Given the description of an element on the screen output the (x, y) to click on. 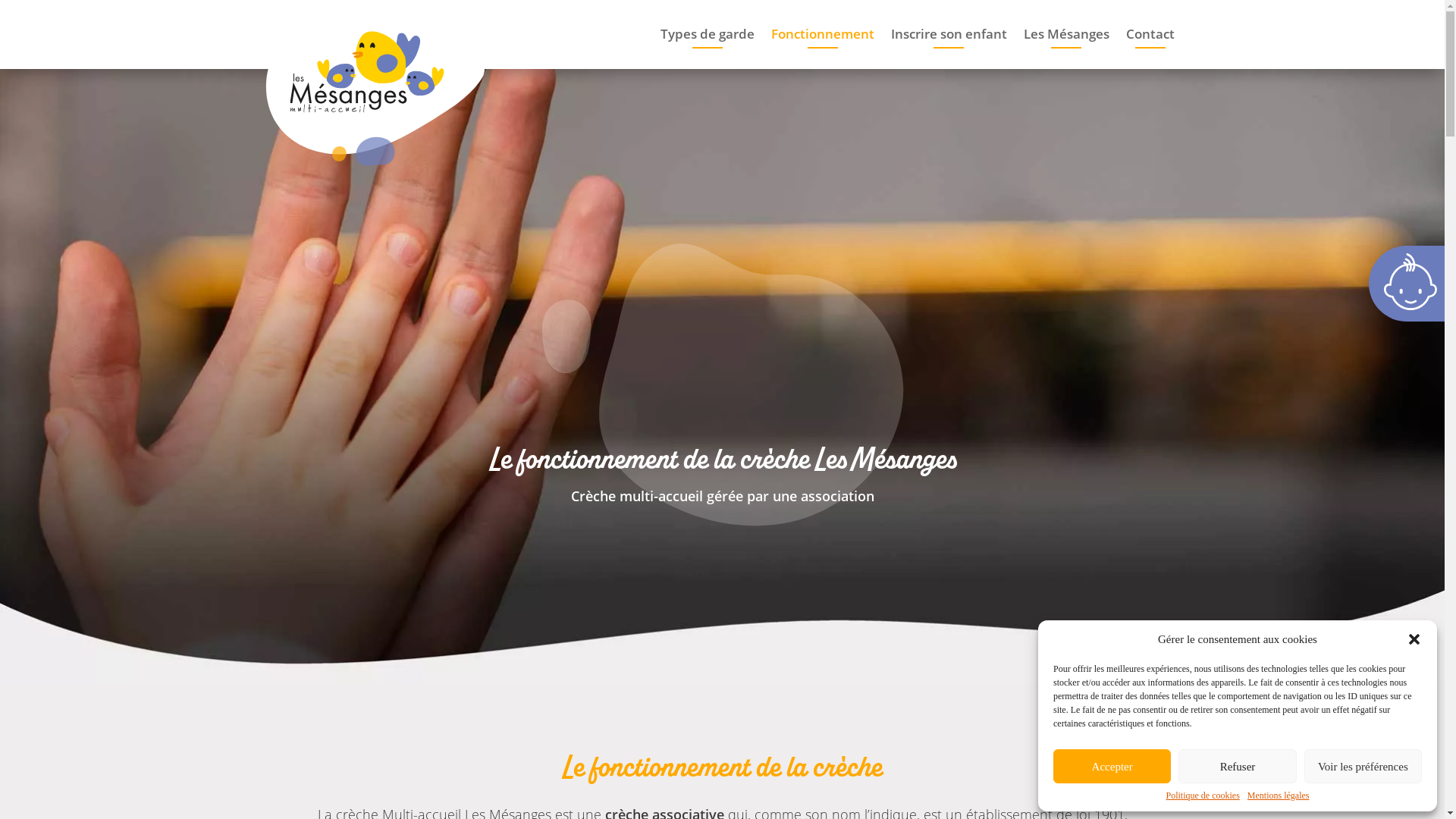
les-mesanges-creche-multi-accueil-a-dirinon-finistere- Element type: hover (721, 384)
Types de garde Element type: text (707, 44)
Accepter Element type: text (1111, 766)
Inscrire son enfant Element type: text (949, 44)
Fonctionnement Element type: text (822, 44)
Politique de cookies Element type: text (1202, 795)
creche-les-mesanges-logo Element type: hover (375, 86)
Contact Element type: text (1150, 44)
Refuser Element type: text (1236, 766)
